Given the description of an element on the screen output the (x, y) to click on. 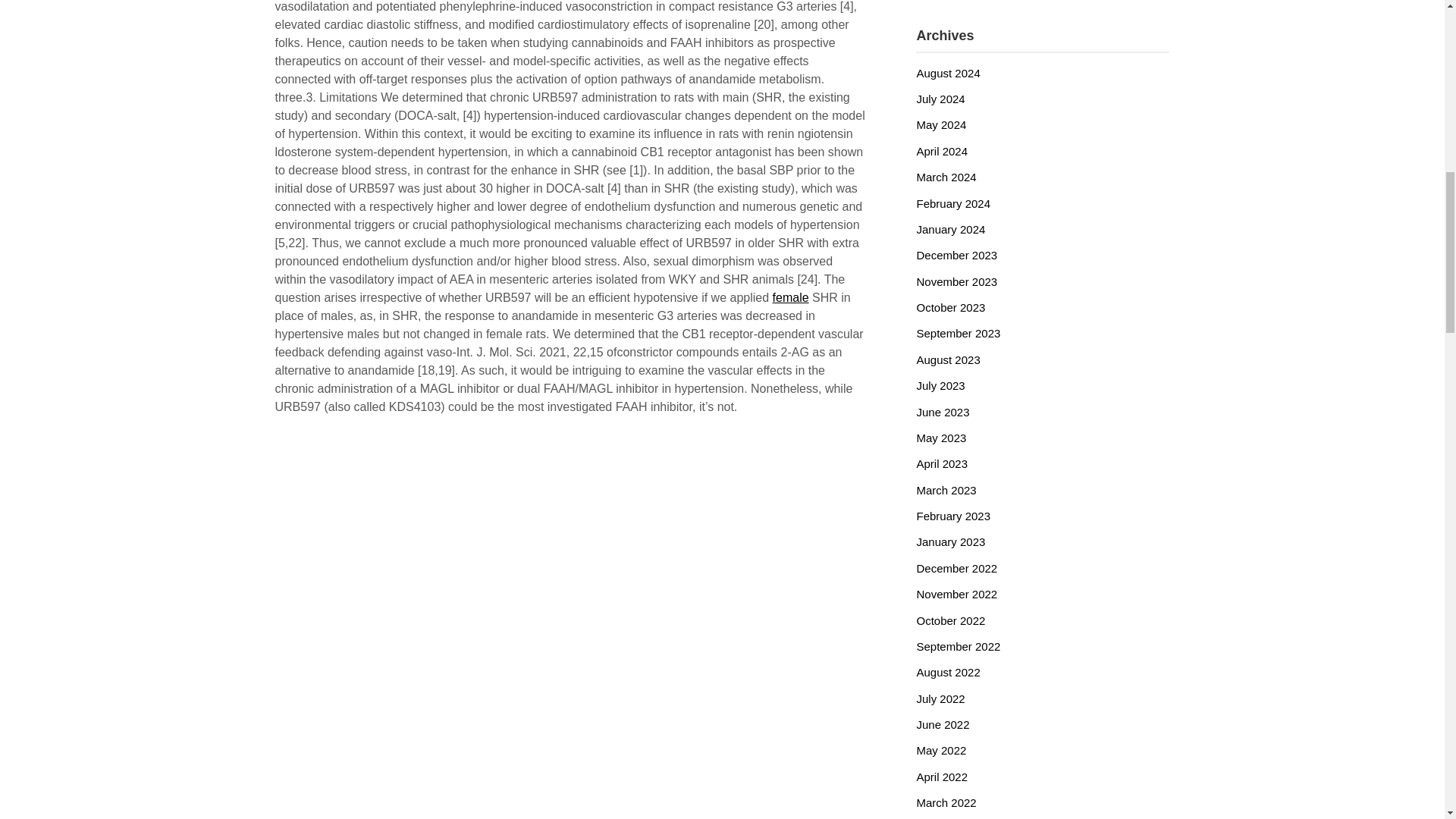
November 2022 (956, 594)
August 2022 (947, 671)
April 2023 (941, 463)
November 2023 (956, 281)
March 2024 (945, 176)
female (791, 297)
February 2023 (952, 515)
August 2023 (947, 359)
September 2023 (957, 332)
October 2022 (950, 620)
